Given the description of an element on the screen output the (x, y) to click on. 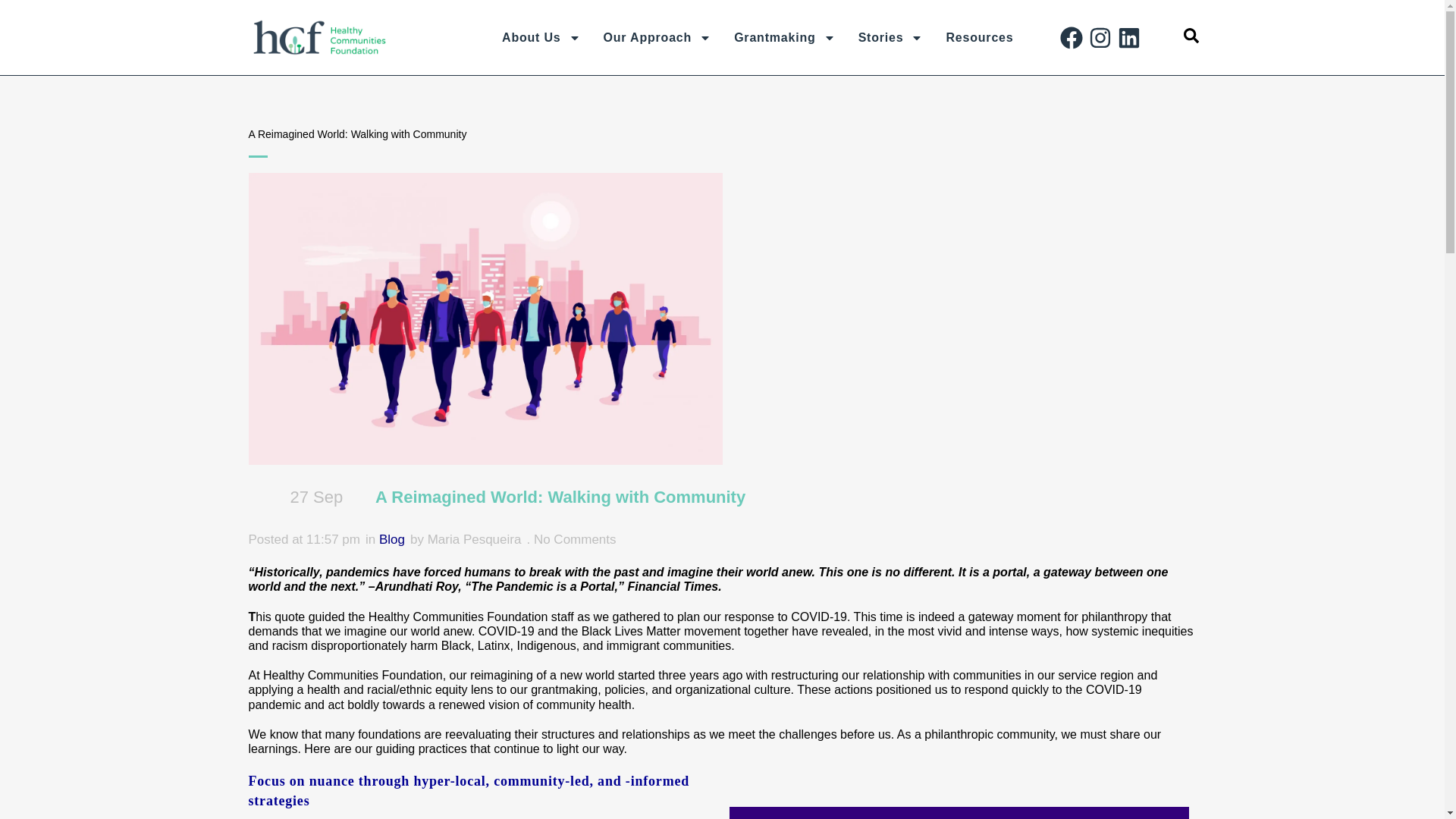
search-button (1190, 35)
About Us (541, 37)
Our Approach (657, 37)
Stories (890, 37)
Grantmaking (784, 37)
Resources (979, 37)
